Given the description of an element on the screen output the (x, y) to click on. 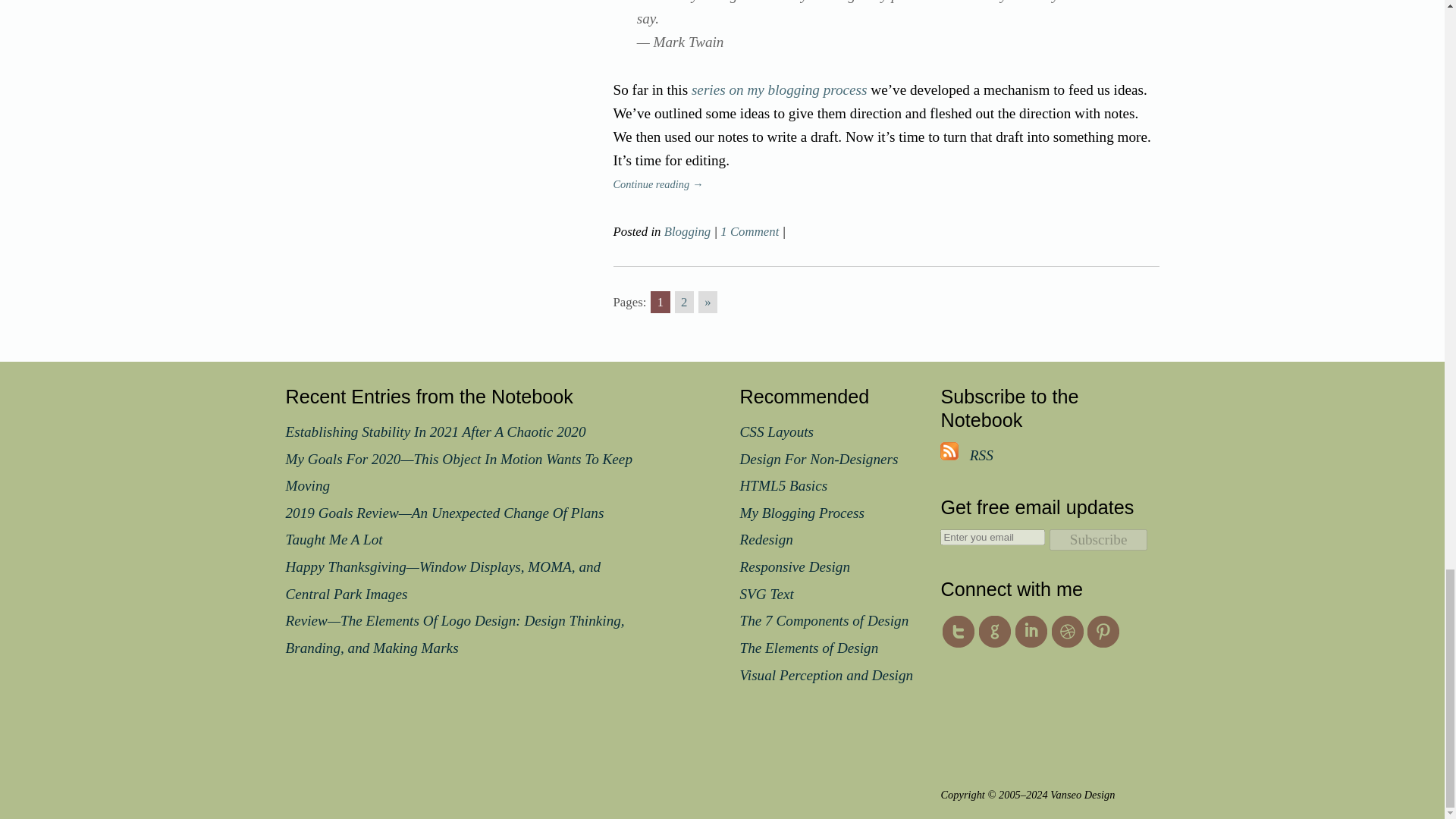
My Blogging Process (801, 512)
Subscribe (1098, 539)
HTML5 Basics (783, 485)
CSS Layouts (776, 431)
Look Establishing Stability In 2021 After A Chaotic 2020 (435, 431)
Design For Non-Designers (818, 458)
